Given the description of an element on the screen output the (x, y) to click on. 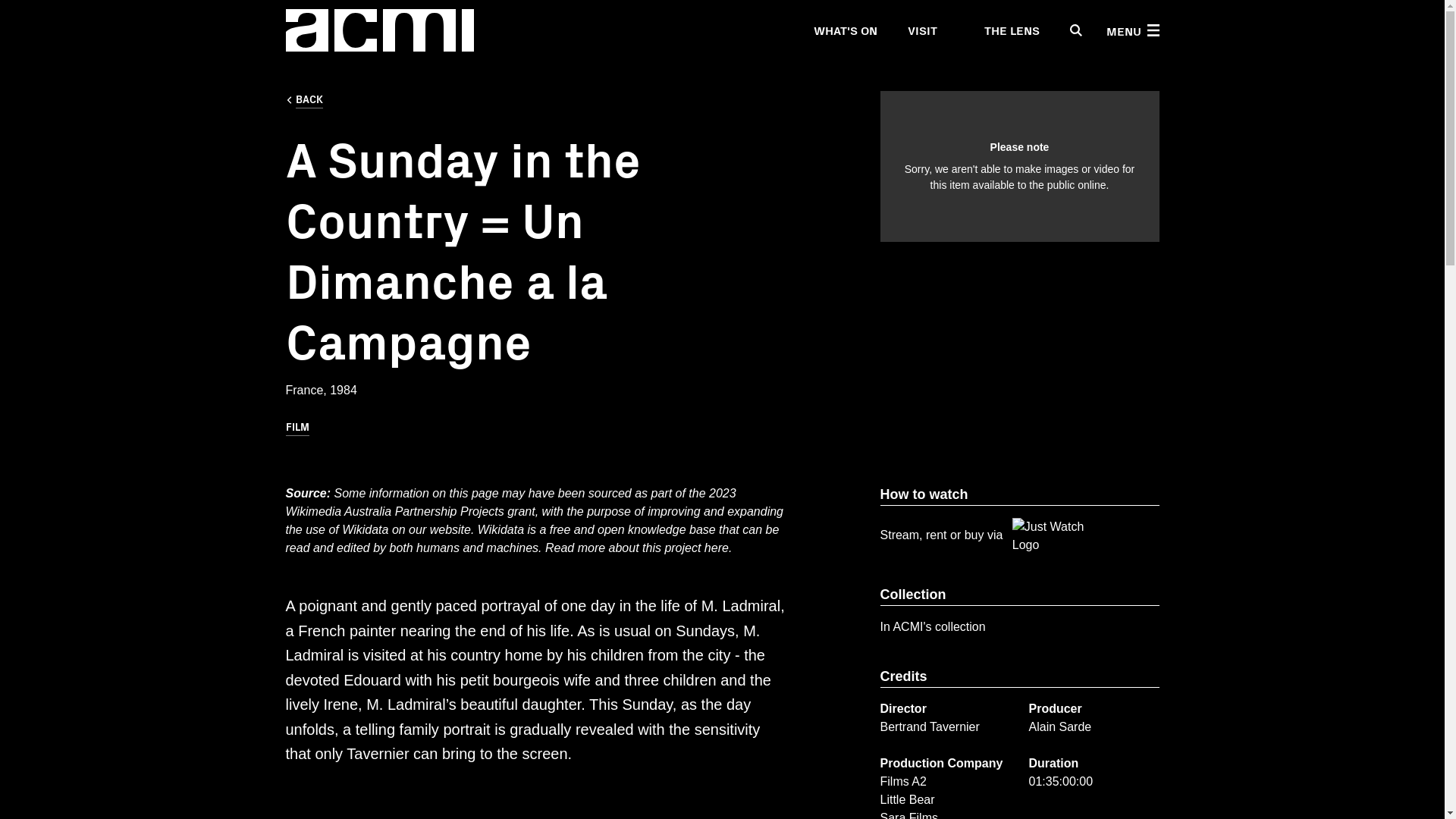
THE LENS (1003, 30)
VISIT (921, 30)
WHAT'S ON (844, 30)
MENU (1131, 29)
